Given the description of an element on the screen output the (x, y) to click on. 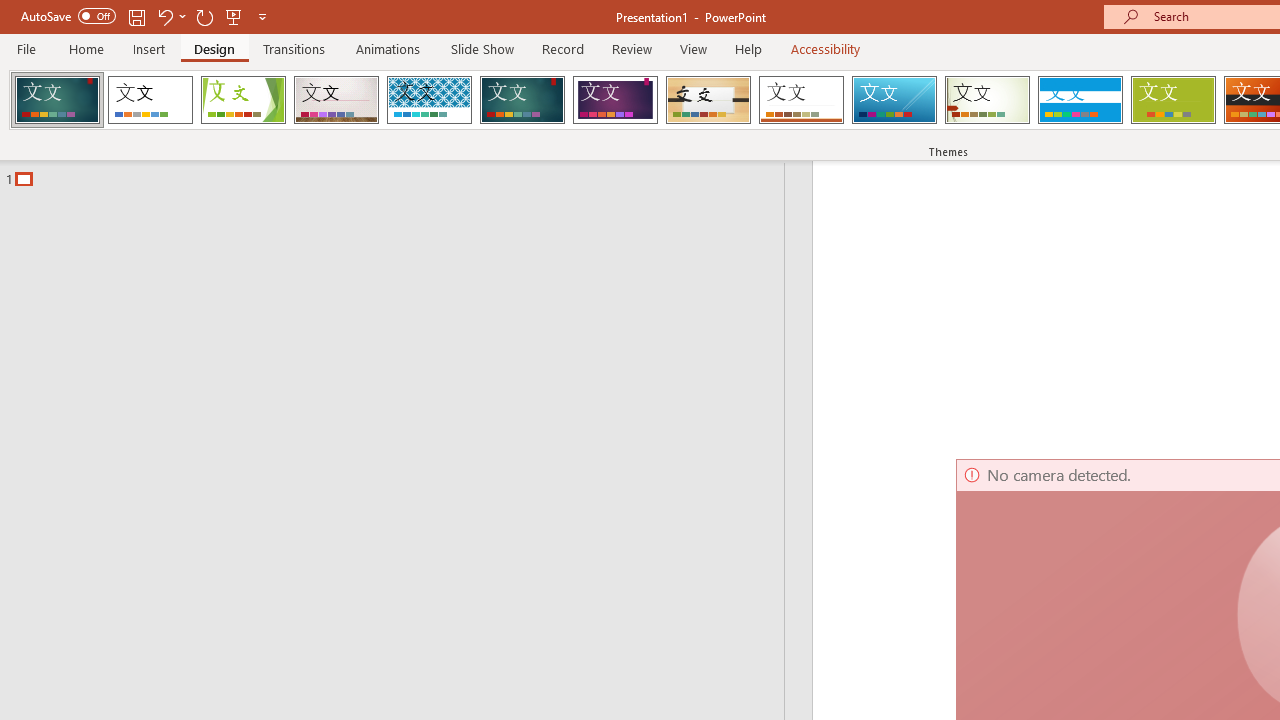
Office Theme (150, 100)
Wisp (987, 100)
Accessibility (825, 48)
Organic (708, 100)
